Given the description of an element on the screen output the (x, y) to click on. 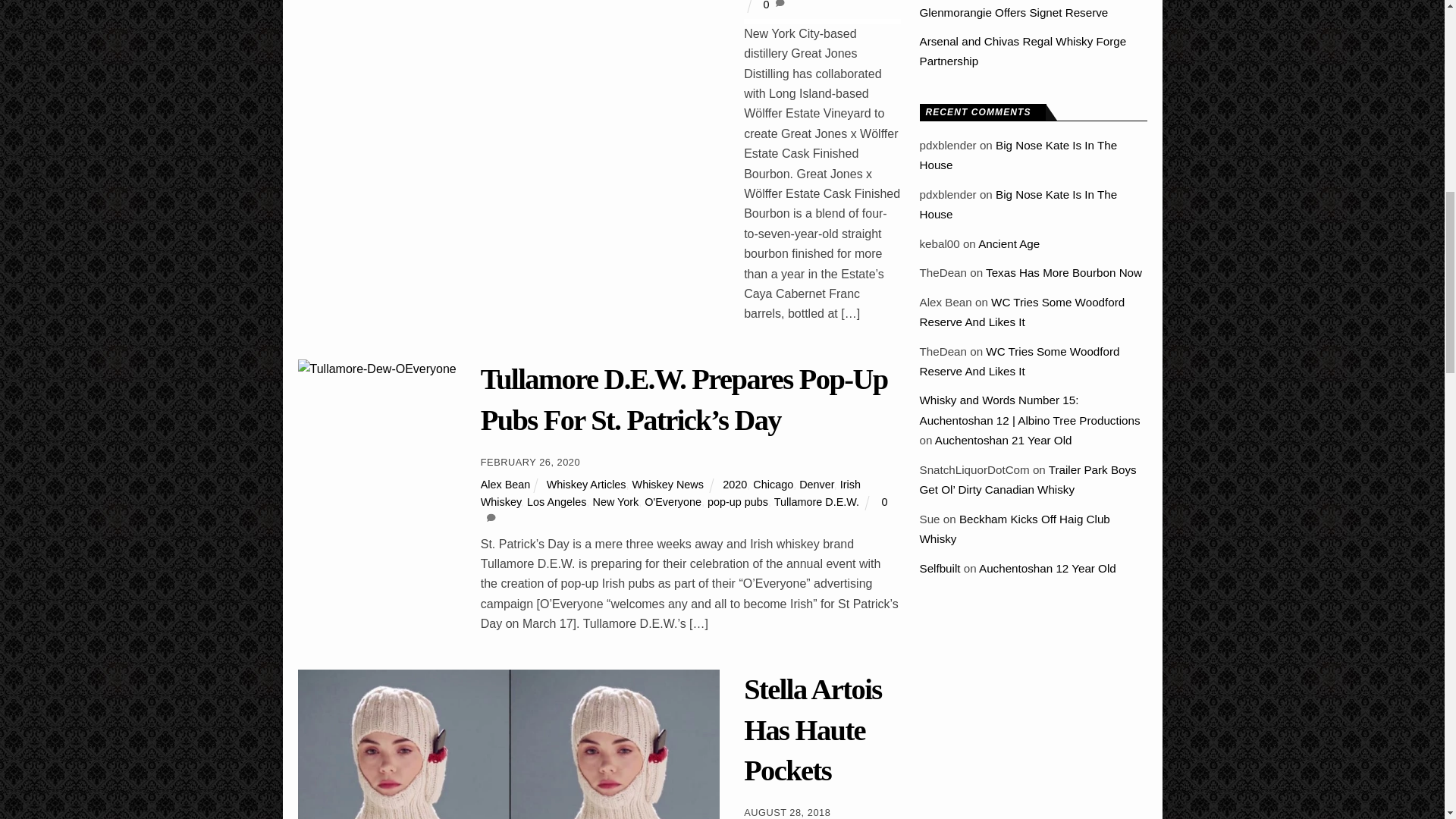
O'Everyone (673, 501)
Alex Bean (505, 484)
Whiskey News (667, 484)
pop-up pubs (737, 501)
Denver (816, 484)
stel (508, 744)
Chicago (772, 484)
Los Angeles (556, 501)
New York (615, 501)
Tullamore-Dew-OEveryone (376, 369)
